Given the description of an element on the screen output the (x, y) to click on. 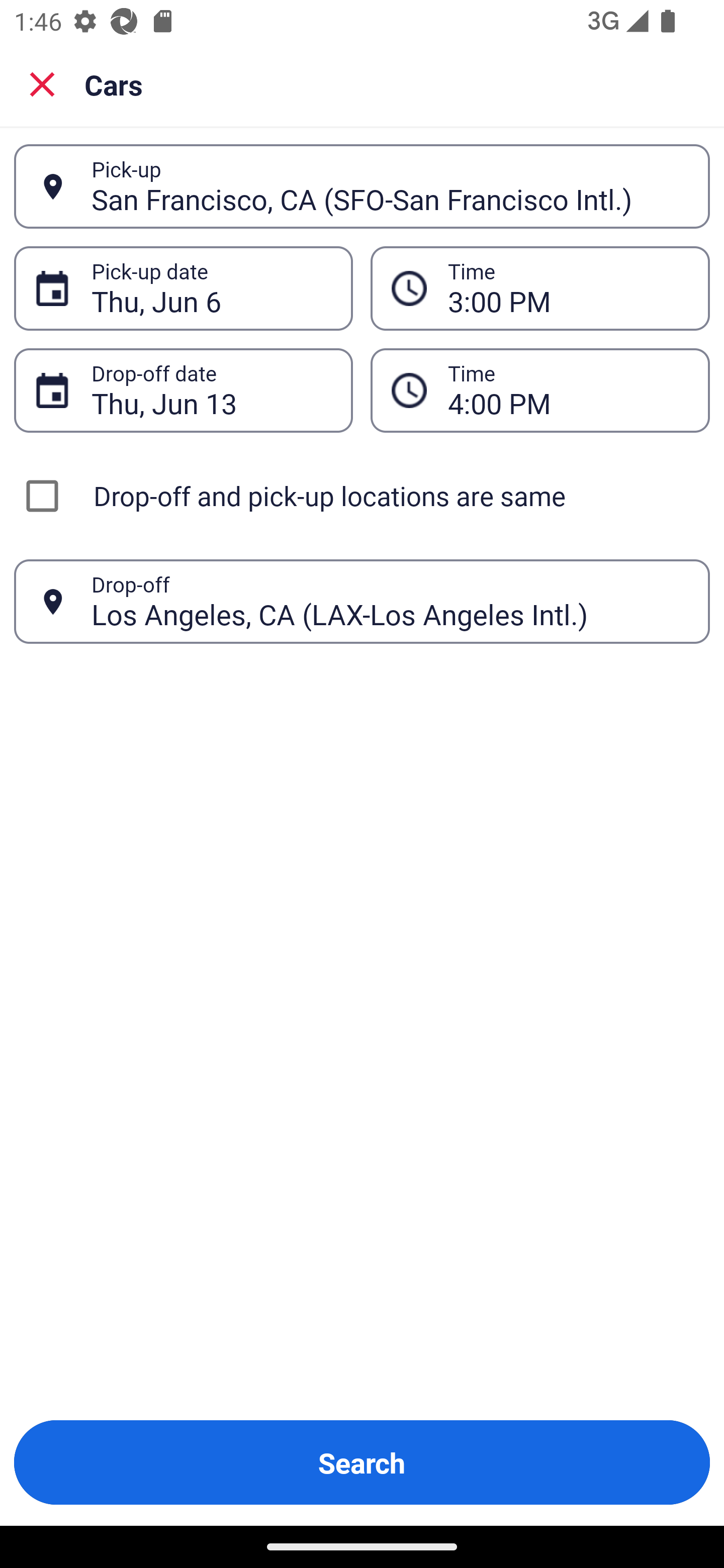
Close search screen (42, 84)
San Francisco, CA (SFO-San Francisco Intl.) (389, 186)
Thu, Jun 6 (211, 288)
3:00 PM (568, 288)
Thu, Jun 13 (211, 390)
4:00 PM (568, 390)
Drop-off and pick-up locations are same (361, 495)
Los Angeles, CA (LAX-Los Angeles Intl.) (389, 601)
Search Button Search (361, 1462)
